Given the description of an element on the screen output the (x, y) to click on. 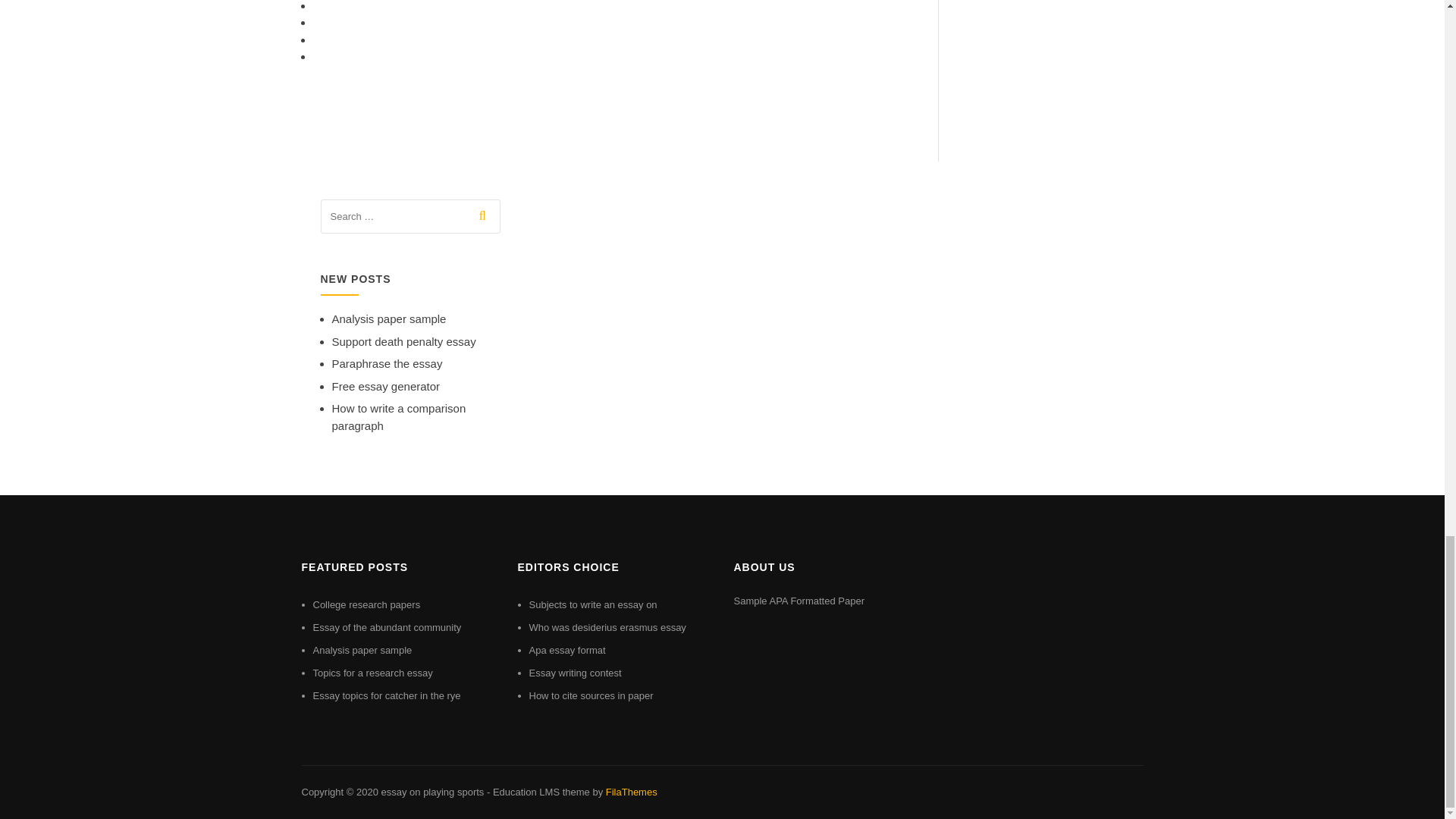
Topics for a research essay (372, 672)
Subjects to write an essay on (593, 604)
Paraphrase the essay (386, 363)
How to cite sources in paper (591, 695)
Essay writing contest (575, 672)
essay on playing sports (431, 791)
Essay of the abundant community (387, 627)
Analysis paper sample (362, 650)
Free essay generator (386, 386)
Support death penalty essay (403, 341)
